Given the description of an element on the screen output the (x, y) to click on. 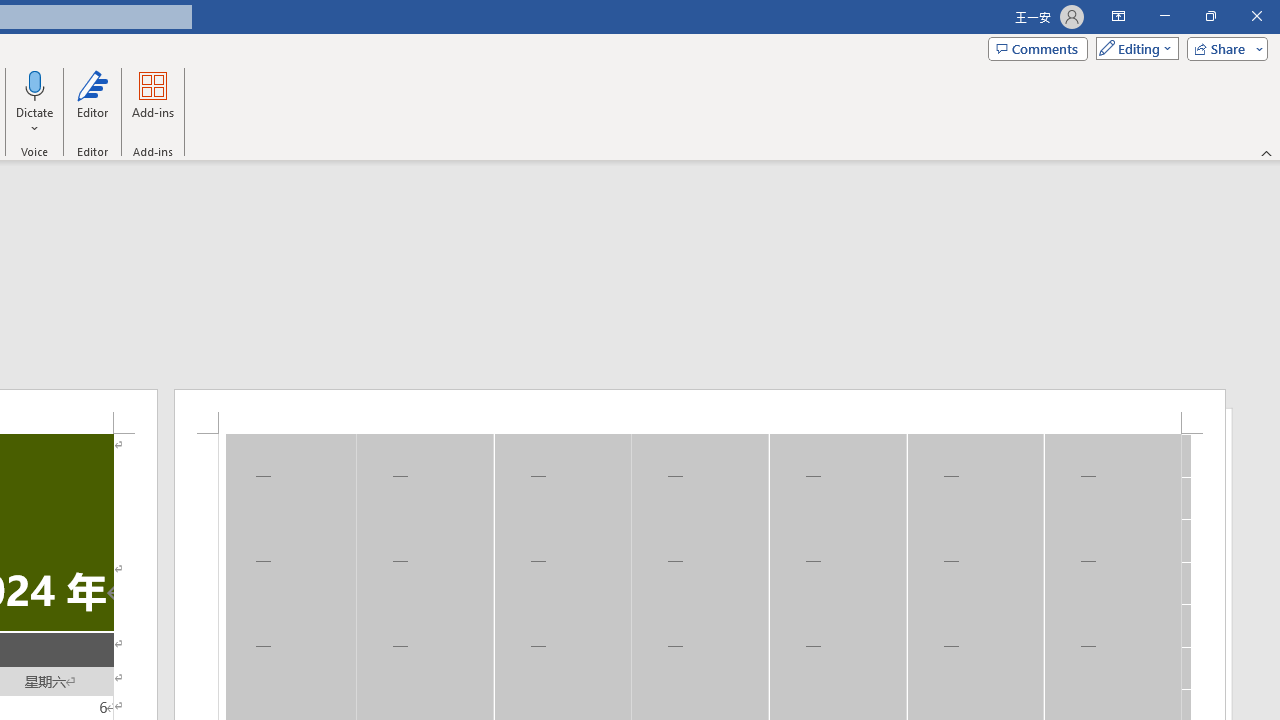
Mode (1133, 47)
Header -Section 1- (700, 411)
